Given the description of an element on the screen output the (x, y) to click on. 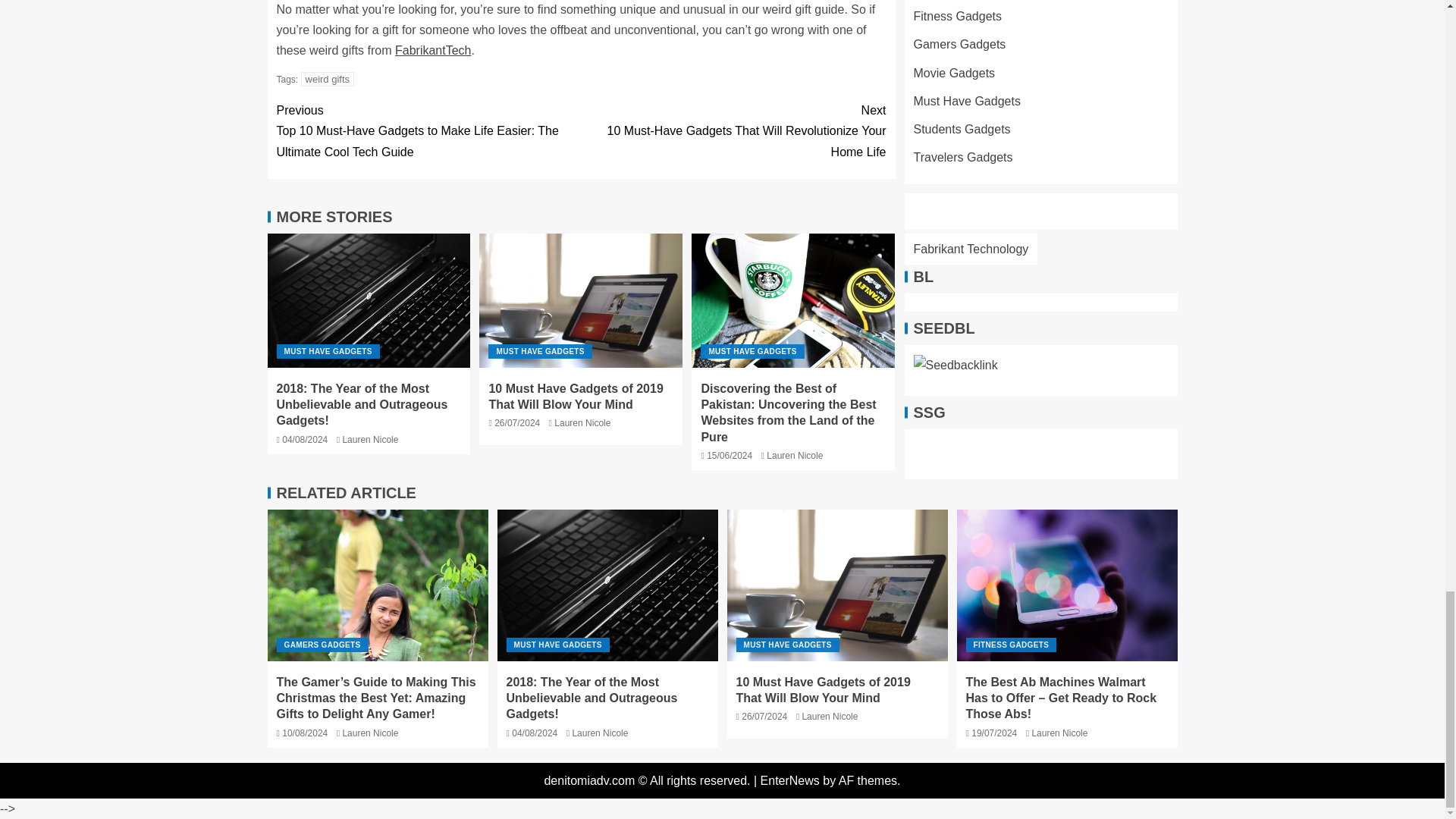
MUST HAVE GADGETS (539, 350)
10 Must Have Gadgets of 2019 That Will Blow Your Mind (580, 300)
weird gifts (328, 79)
Lauren Nicole (369, 439)
